Given the description of an element on the screen output the (x, y) to click on. 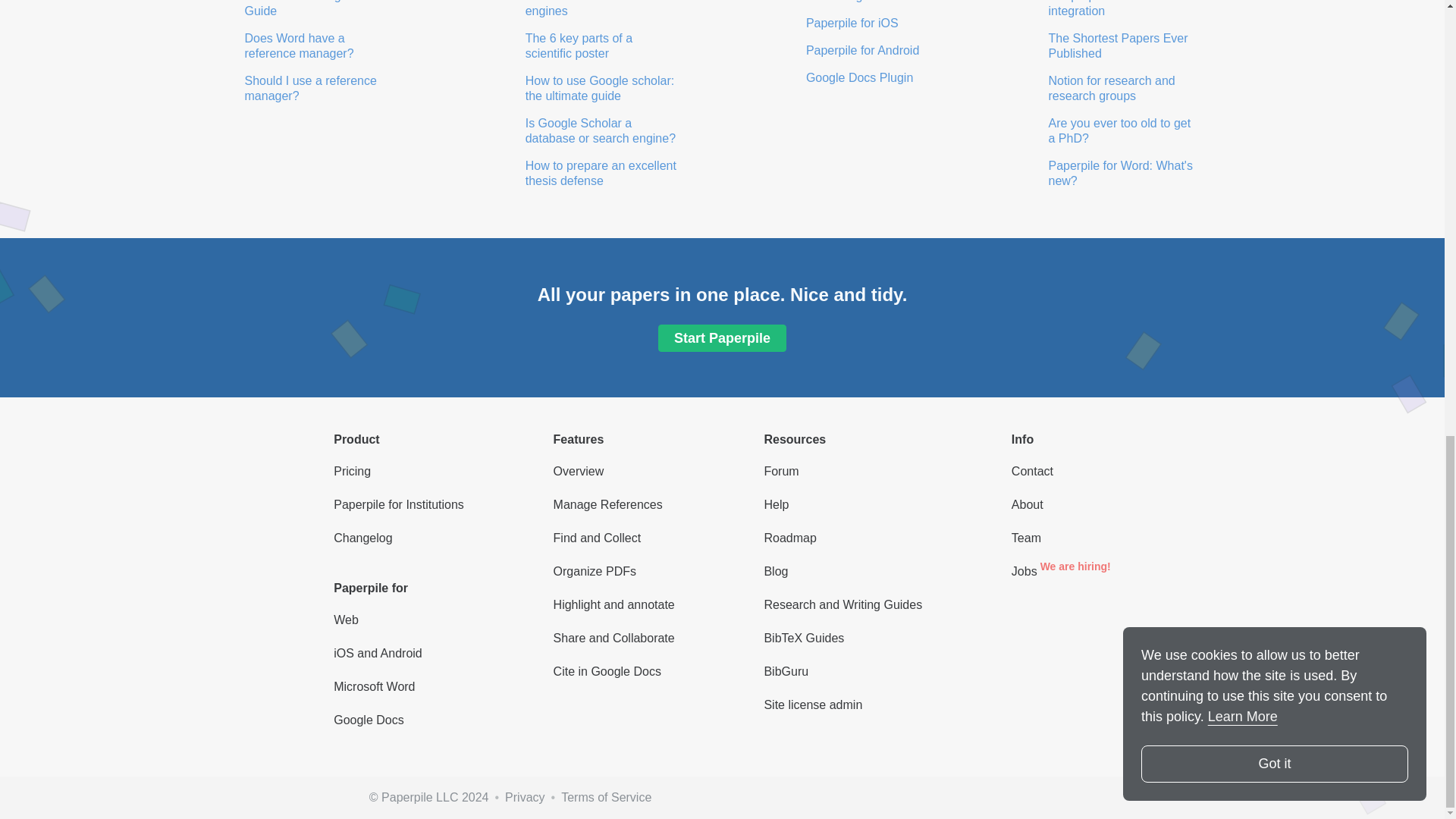
The Shortest Papers Ever Published (1116, 45)
Google Docs Plugin (859, 77)
Should I use a reference manager? (308, 88)
Does Word have a reference manager? (298, 45)
Paperpile for iOS (852, 22)
Is Google Scholar a database or search engine? (600, 130)
Word Plugin (839, 1)
Notion for research and research groups (1109, 88)
The best academic search engines (595, 8)
How to use Google scholar: the ultimate guide (598, 88)
Paperpile for Android (862, 50)
The 6 key parts of a scientific poster (576, 45)
How to prepare an excellent thesis defense (599, 172)
Reference Management Guide (307, 8)
